Given the description of an element on the screen output the (x, y) to click on. 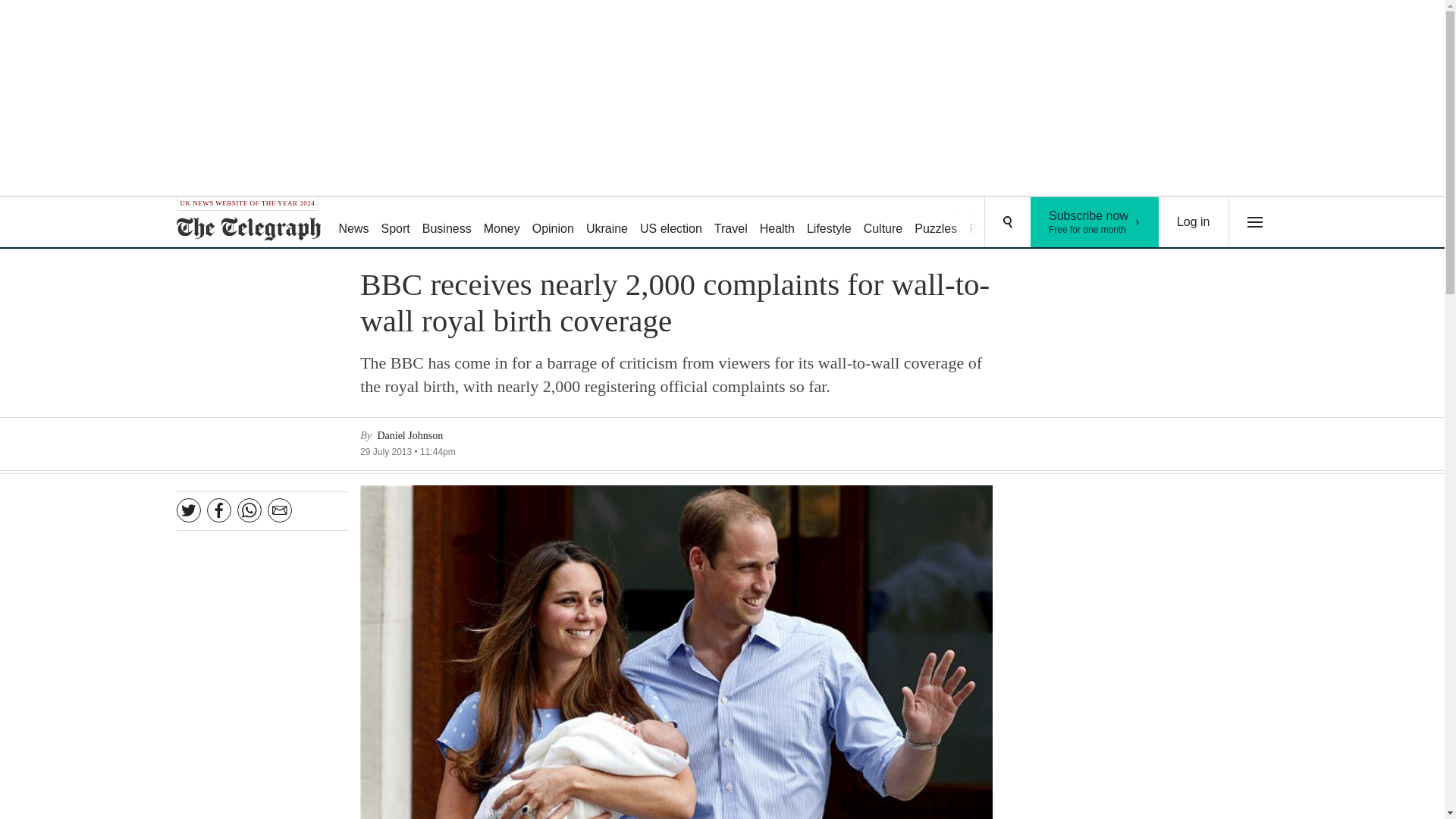
US election (670, 223)
Health (1094, 222)
Podcasts (777, 223)
Travel (993, 223)
Opinion (730, 223)
Culture (552, 223)
Lifestyle (882, 223)
Log in (828, 223)
Puzzles (1193, 222)
